Given the description of an element on the screen output the (x, y) to click on. 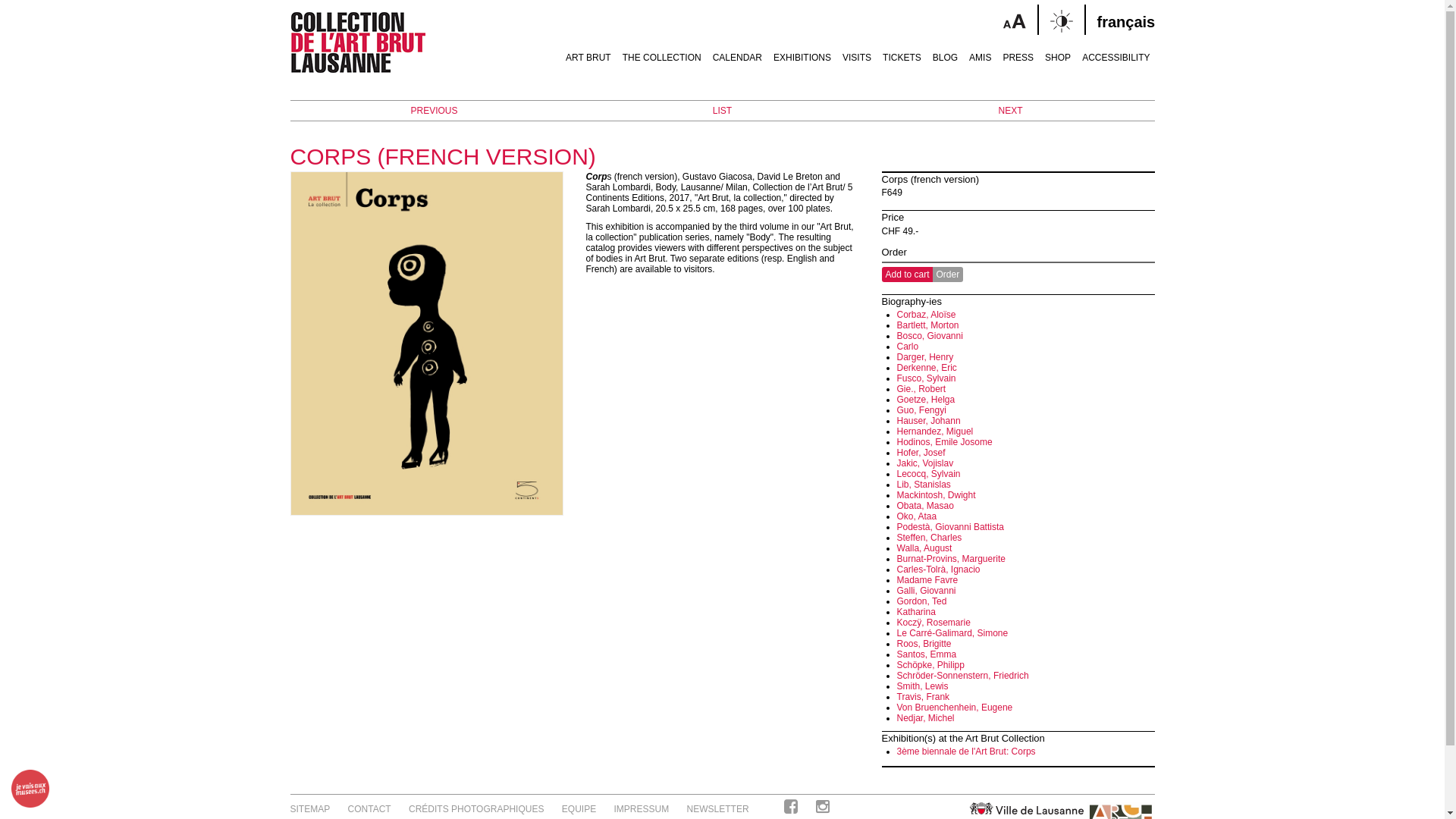
CONTACT Element type: text (369, 808)
EQUIPE Element type: text (578, 808)
Oko, Ataa Element type: text (916, 516)
Hernandez, Miguel Element type: text (934, 431)
Gie., Robert Element type: text (920, 388)
Burnat-Provins, Marguerite Element type: text (950, 558)
THE COLLECTION Element type: text (661, 51)
SHOP Element type: text (1057, 51)
LIST Element type: text (722, 110)
Hauser, Johann Element type: text (928, 420)
Von Bruenchenhein, Eugene Element type: text (954, 707)
SITEMAP Element type: text (309, 808)
Darger, Henry Element type: text (924, 356)
Santos, Emma Element type: text (926, 654)
Obata, Masao Element type: text (924, 505)
TICKETS Element type: text (901, 51)
Gordon, Ted Element type: text (921, 601)
BLOG Element type: text (944, 51)
EXHIBITIONS Element type: text (801, 51)
Roos, Brigitte Element type: text (923, 643)
Guo, Fengyi Element type: text (920, 409)
CALENDAR Element type: text (737, 51)
Smith, Lewis Element type: text (921, 685)
PREVIOUS Element type: text (433, 110)
Order Element type: text (947, 274)
Galli, Giovanni Element type: text (925, 590)
ACCESSIBILITY Element type: text (1113, 51)
Goetze, Helga Element type: text (925, 399)
Jakic, Vojislav Element type: text (924, 463)
Add to cart Element type: text (906, 274)
Bosco, Giovanni Element type: text (929, 335)
Walla, August Element type: text (923, 547)
NEWSLETTER Element type: text (718, 808)
Travis, Frank Element type: text (922, 696)
AMIS Element type: text (979, 51)
Lecocq, Sylvain Element type: text (928, 473)
Hofer, Josef Element type: text (920, 452)
IMPRESSUM Element type: text (641, 808)
Derkenne, Eric Element type: text (926, 367)
Steffen, Charles Element type: text (928, 537)
Madame Favre Element type: text (926, 579)
Hodinos, Emile Josome Element type: text (943, 441)
NEXT Element type: text (1009, 110)
Fusco, Sylvain Element type: text (925, 378)
Nedjar, Michel Element type: text (924, 717)
Lib, Stanislas Element type: text (923, 484)
Carlo Element type: text (907, 346)
Bartlett, Morton Element type: text (927, 325)
Mackintosh, Dwight Element type: text (935, 494)
Katharina Element type: text (915, 611)
PRESS Element type: text (1017, 51)
VISITS Element type: text (856, 51)
ART BRUT Element type: text (588, 51)
